Given the description of an element on the screen output the (x, y) to click on. 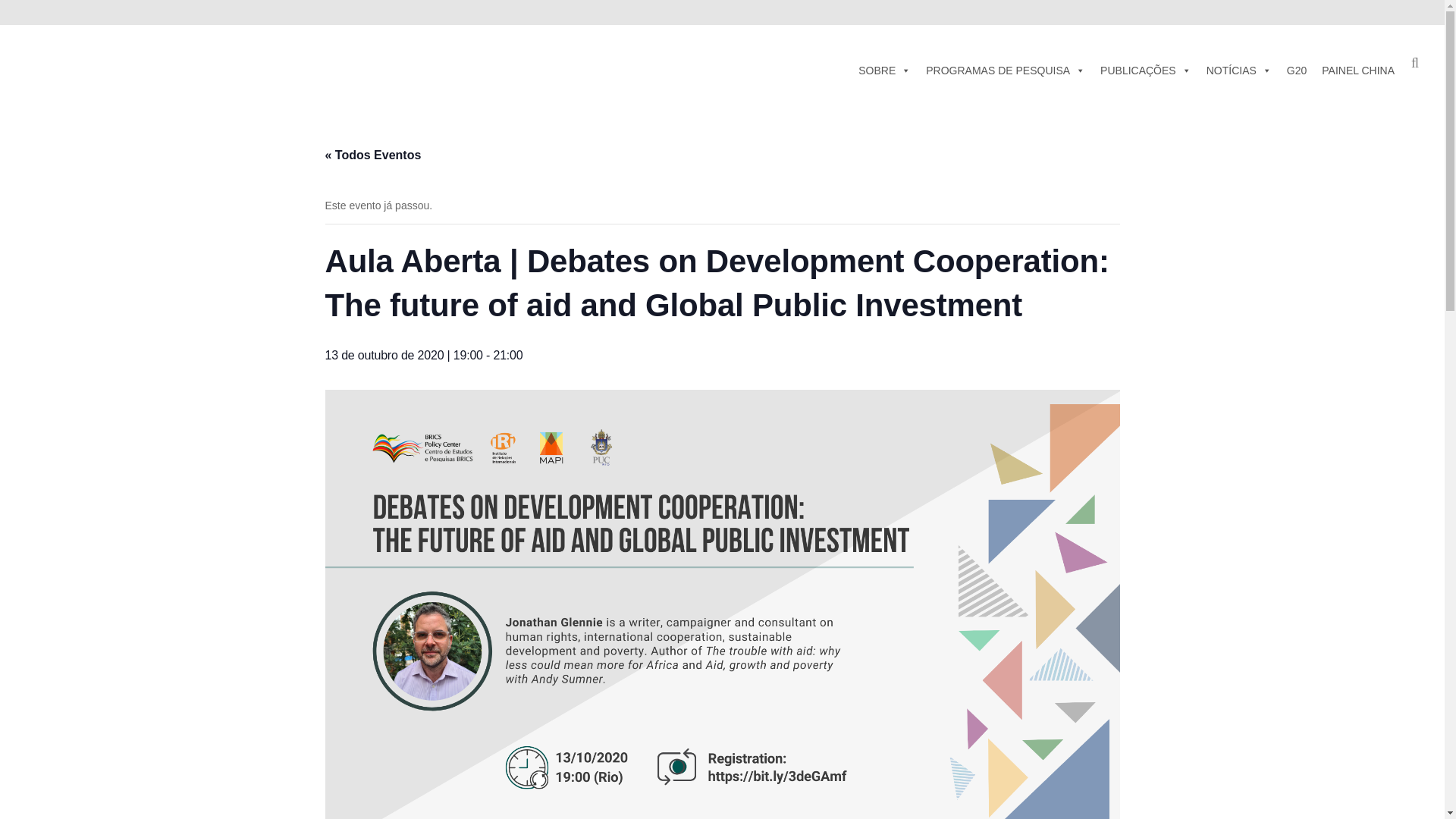
SOBRE (884, 70)
PROGRAMAS DE PESQUISA (1005, 70)
